Given the description of an element on the screen output the (x, y) to click on. 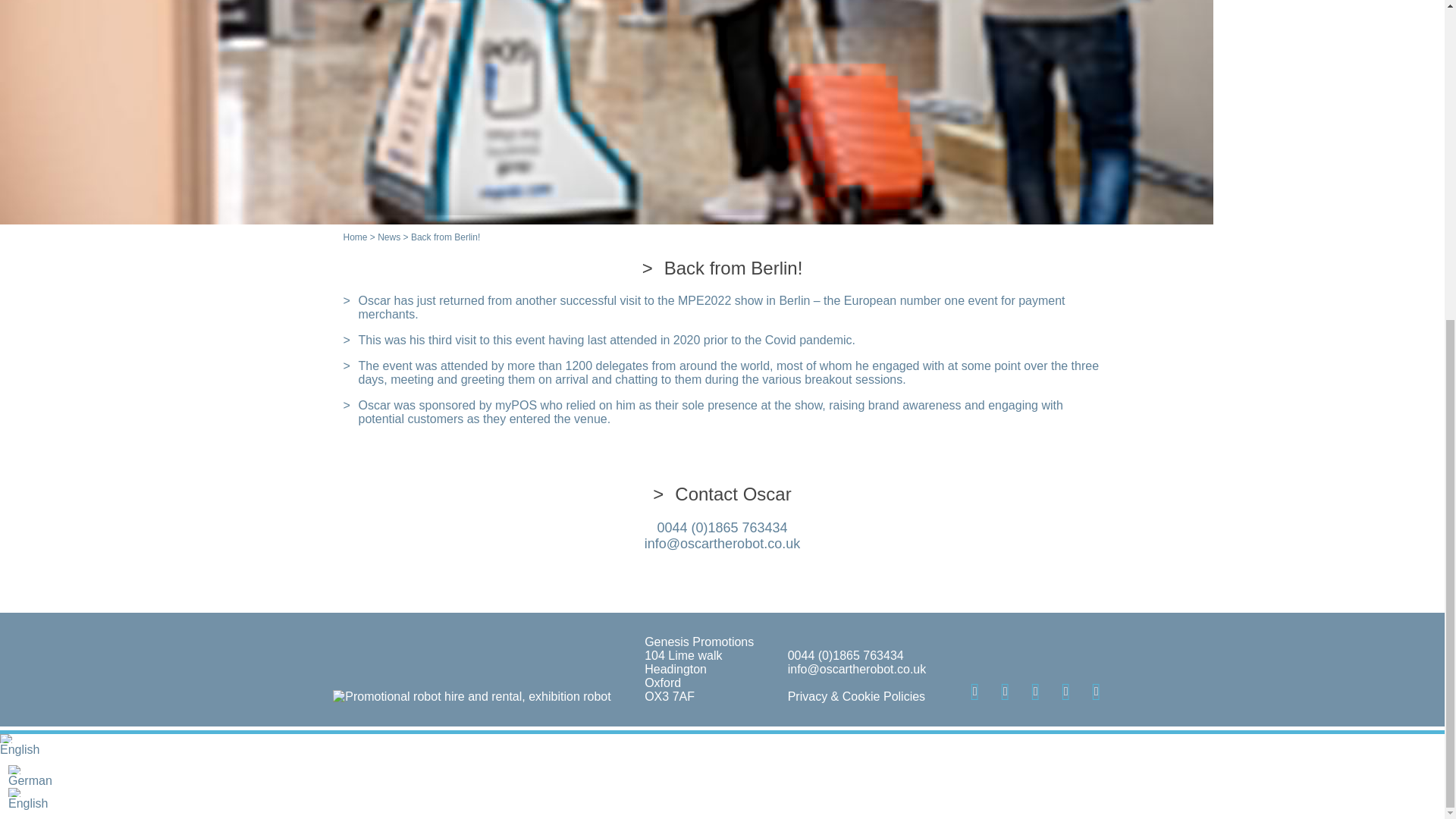
English (6, 737)
Go to News. (388, 236)
Home (354, 236)
English (14, 791)
German (721, 775)
Go to Oscar the Robot. (354, 236)
News (388, 236)
German (14, 768)
Scroll to Top (1408, 263)
Top (1408, 263)
